Given the description of an element on the screen output the (x, y) to click on. 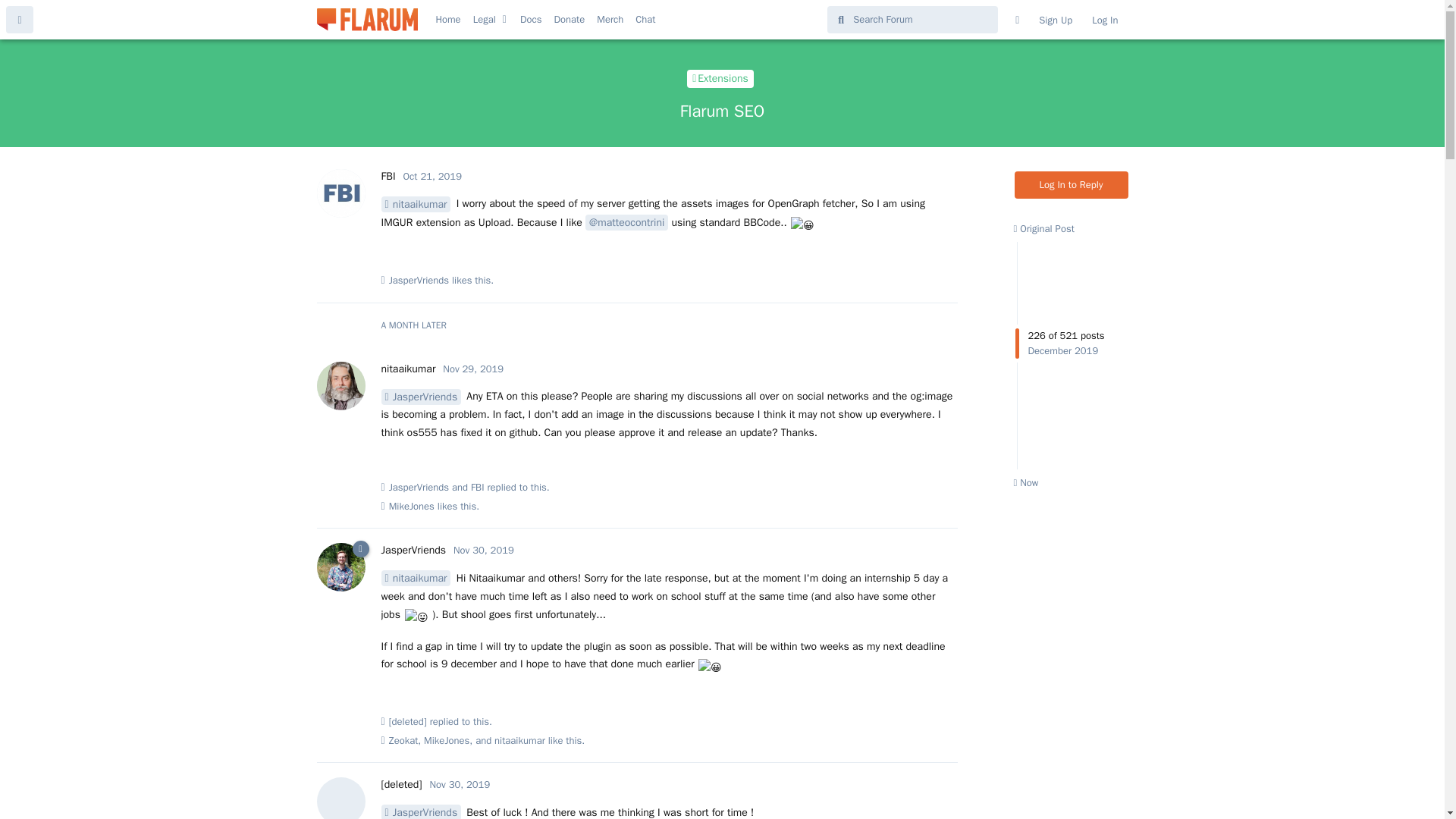
FBI (387, 175)
Nov 30, 2019 (482, 549)
Oct 21, 2019 (432, 175)
Log In (1103, 19)
JasperVriends (420, 396)
JasperVriends (412, 549)
nitaaikumar (414, 204)
Donate (569, 19)
Chat (644, 19)
Monday, October 21, 2019 7:24 AM (432, 175)
Log In to Reply (1071, 185)
FBI (477, 487)
Sign Up (1055, 19)
JasperVriends (418, 280)
Saturday, November 30, 2019 12:47 AM (459, 784)
